Given the description of an element on the screen output the (x, y) to click on. 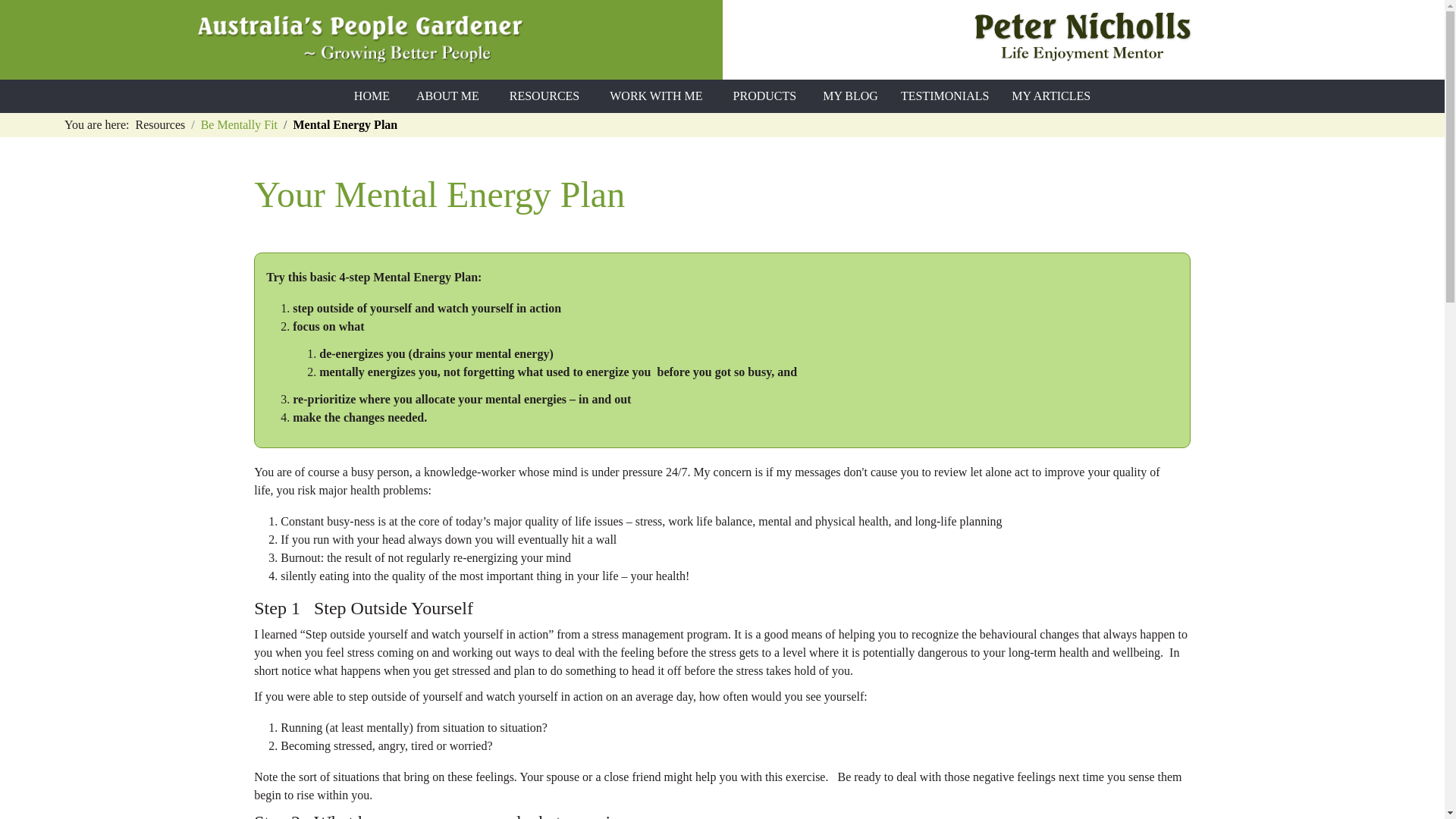
TESTIMONIALS (944, 96)
MY BLOG (849, 96)
MY ARTICLES (1051, 96)
HOME (371, 96)
